Given the description of an element on the screen output the (x, y) to click on. 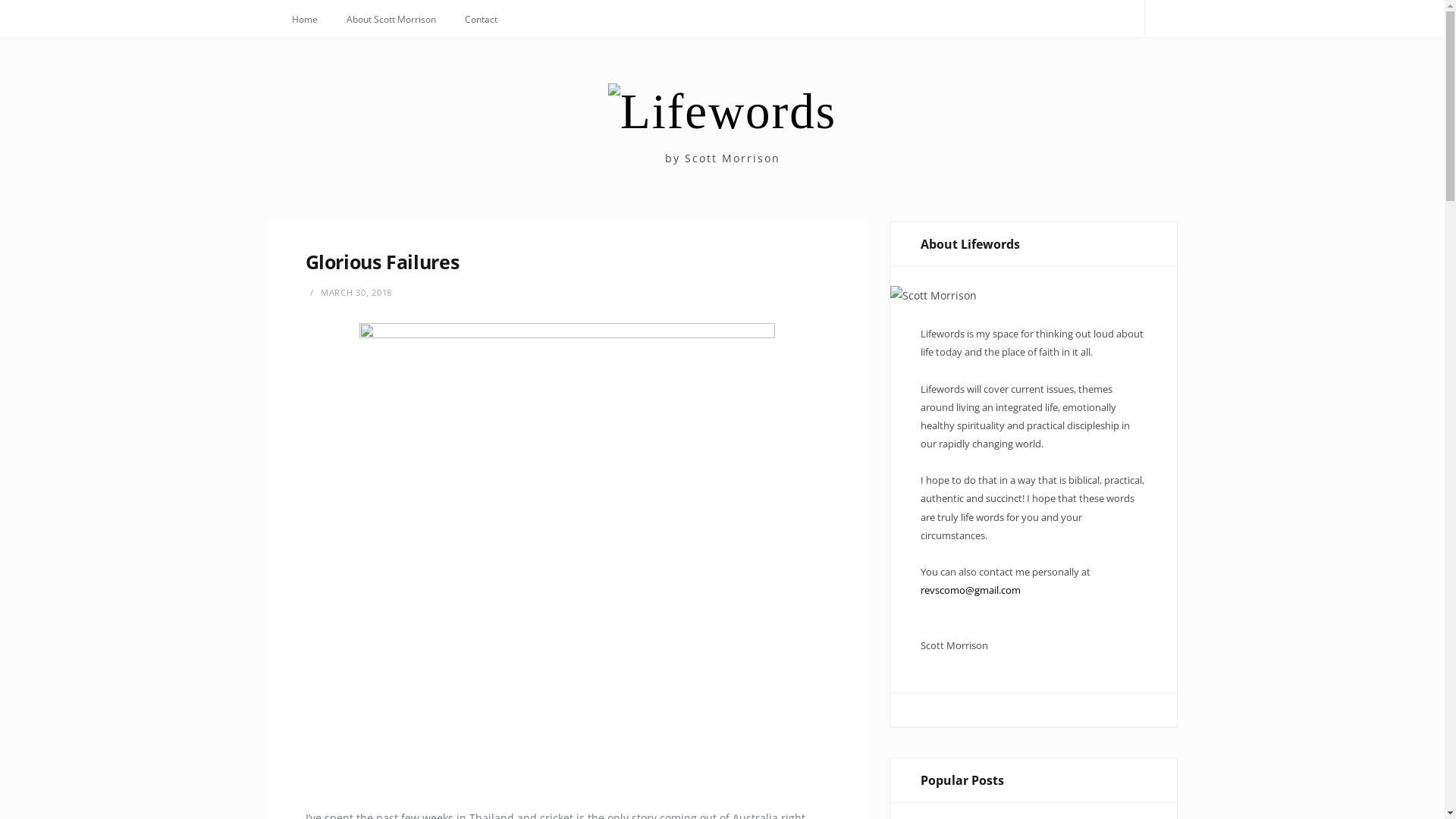
About Scott Morrison Element type: text (390, 19)
revscomo@gmail.com Element type: text (970, 589)
Contact Element type: text (480, 19)
Home Element type: text (304, 19)
